Given the description of an element on the screen output the (x, y) to click on. 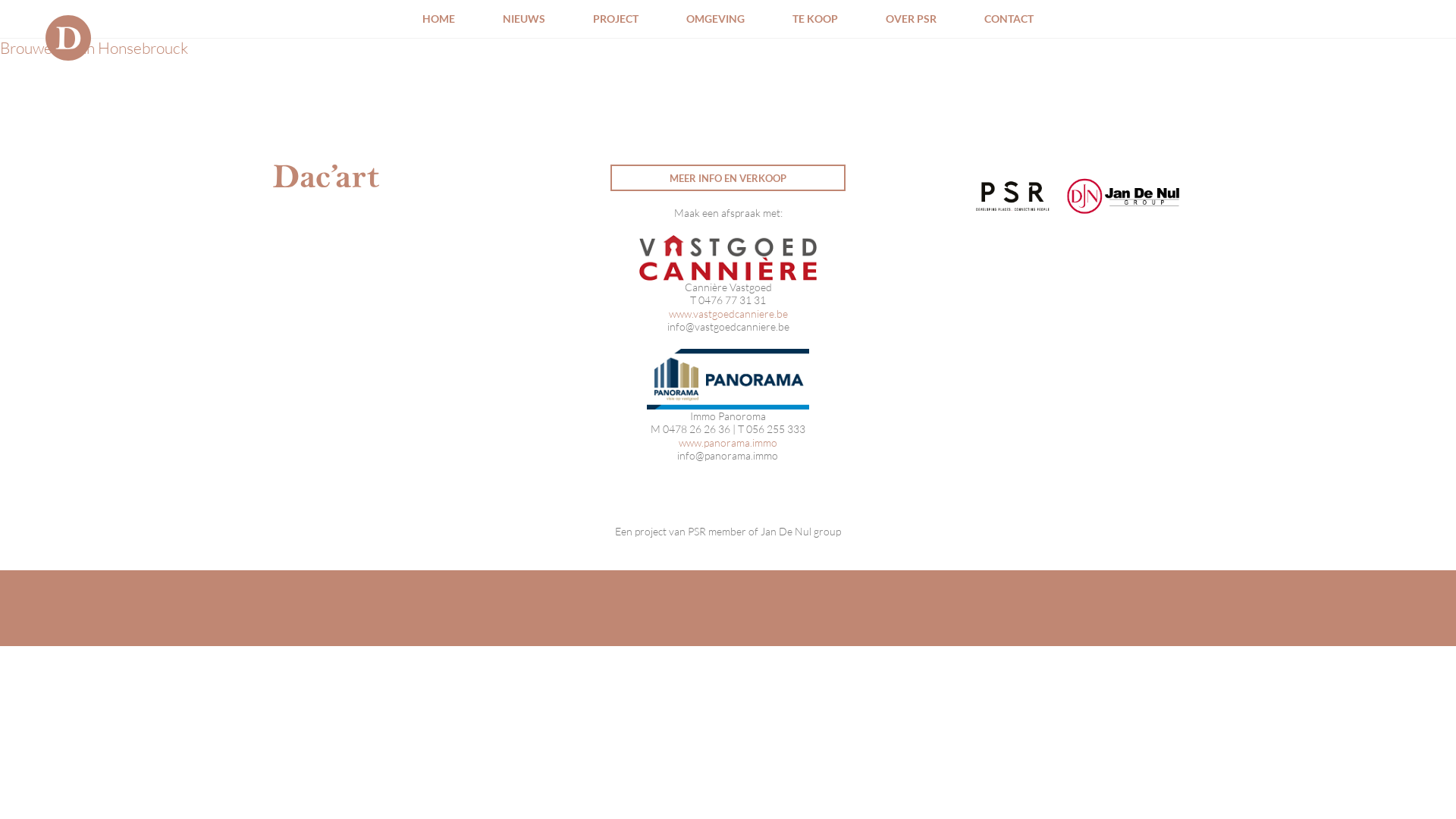
HOME Element type: text (438, 18)
0476 77 31 31 Element type: text (731, 299)
056 255 333 Element type: text (775, 428)
OMGEVING Element type: text (715, 18)
MEER INFO EN VERKOOP Element type: text (727, 177)
PROJECT Element type: text (615, 18)
TE KOOP Element type: text (814, 18)
www.panorama.immo Element type: text (727, 442)
OVER PSR Element type: text (910, 18)
CONTACT Element type: text (1008, 18)
www.vastgoedcanniere.be Element type: text (727, 313)
NIEUWS Element type: text (523, 18)
info@vastgoedcanniere.be Element type: text (727, 326)
info@panorama.immo Element type: text (727, 455)
0478 26 26 36 Element type: text (696, 428)
